Given the description of an element on the screen output the (x, y) to click on. 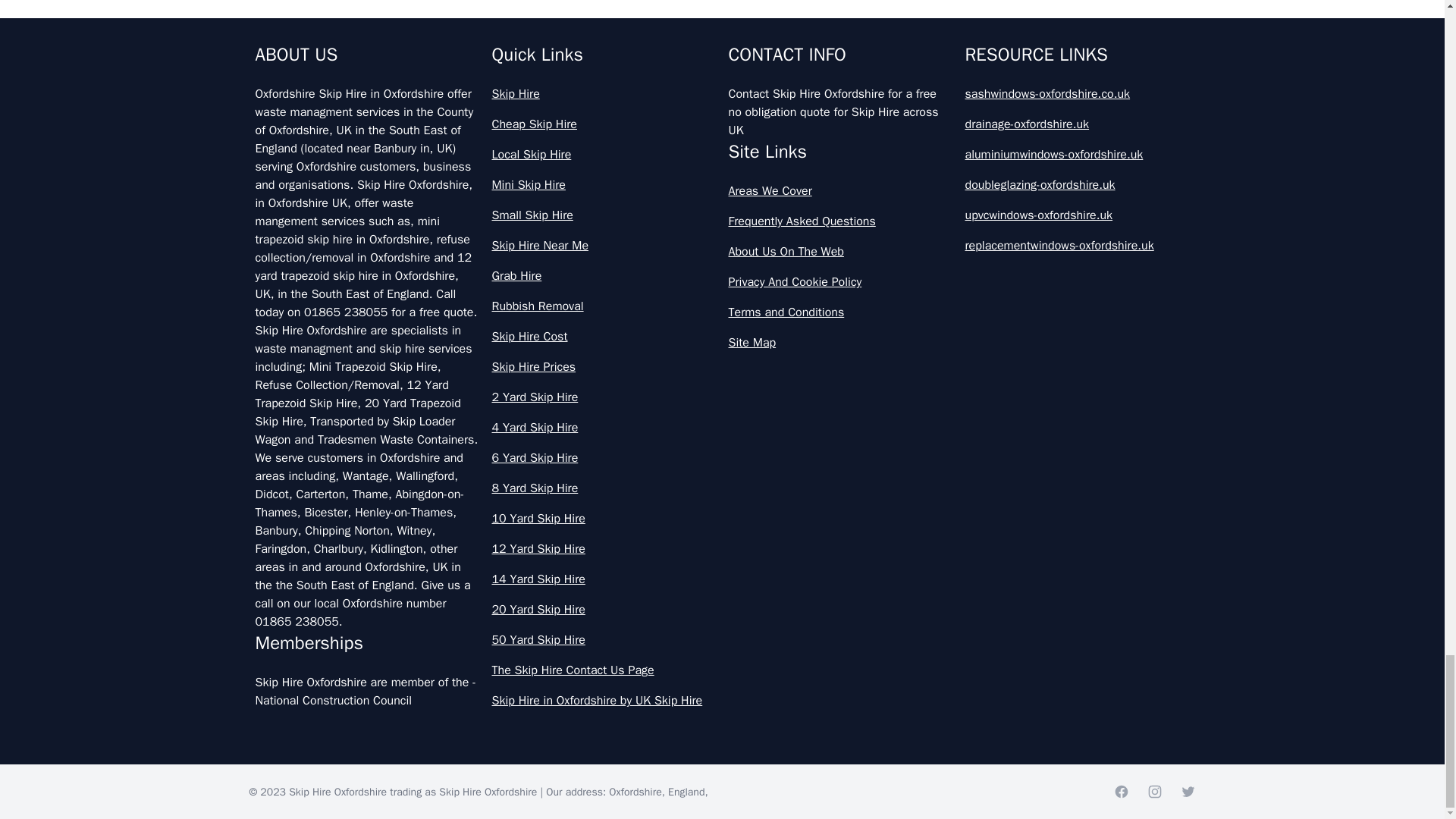
aluminiumwindows-oxfordshire.uk (1076, 154)
sashwindows-oxfordshire.co.uk (1076, 94)
Is Grab Hire Cheaper Than A Skip In Oxfordshire (722, 18)
What Is Grab Hire In Oxfordshire (722, 80)
doubleglazing-oxfordshire.uk (1076, 185)
Site Map (840, 342)
replacementwindows-oxfordshire.uk (1076, 245)
Skip Hire in Oxfordshire by UK Skip Hire (604, 700)
upvcwindows-oxfordshire.uk (1076, 215)
drainage-oxfordshire.uk (1076, 124)
